Given the description of an element on the screen output the (x, y) to click on. 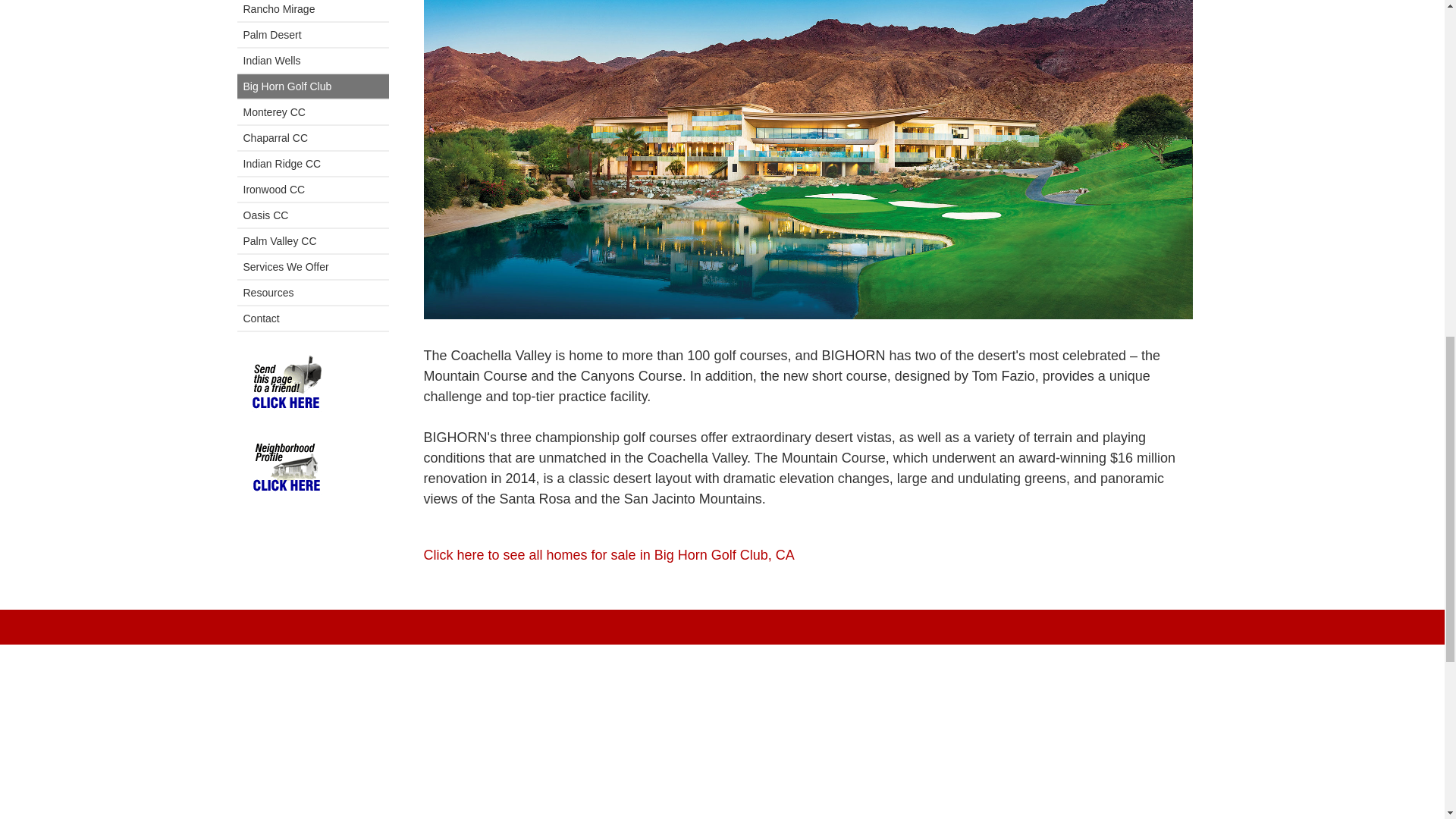
Rancho Mirage (311, 11)
Big Horn Golf Club (311, 86)
Palm Desert (311, 35)
Indian Wells (311, 61)
